Given the description of an element on the screen output the (x, y) to click on. 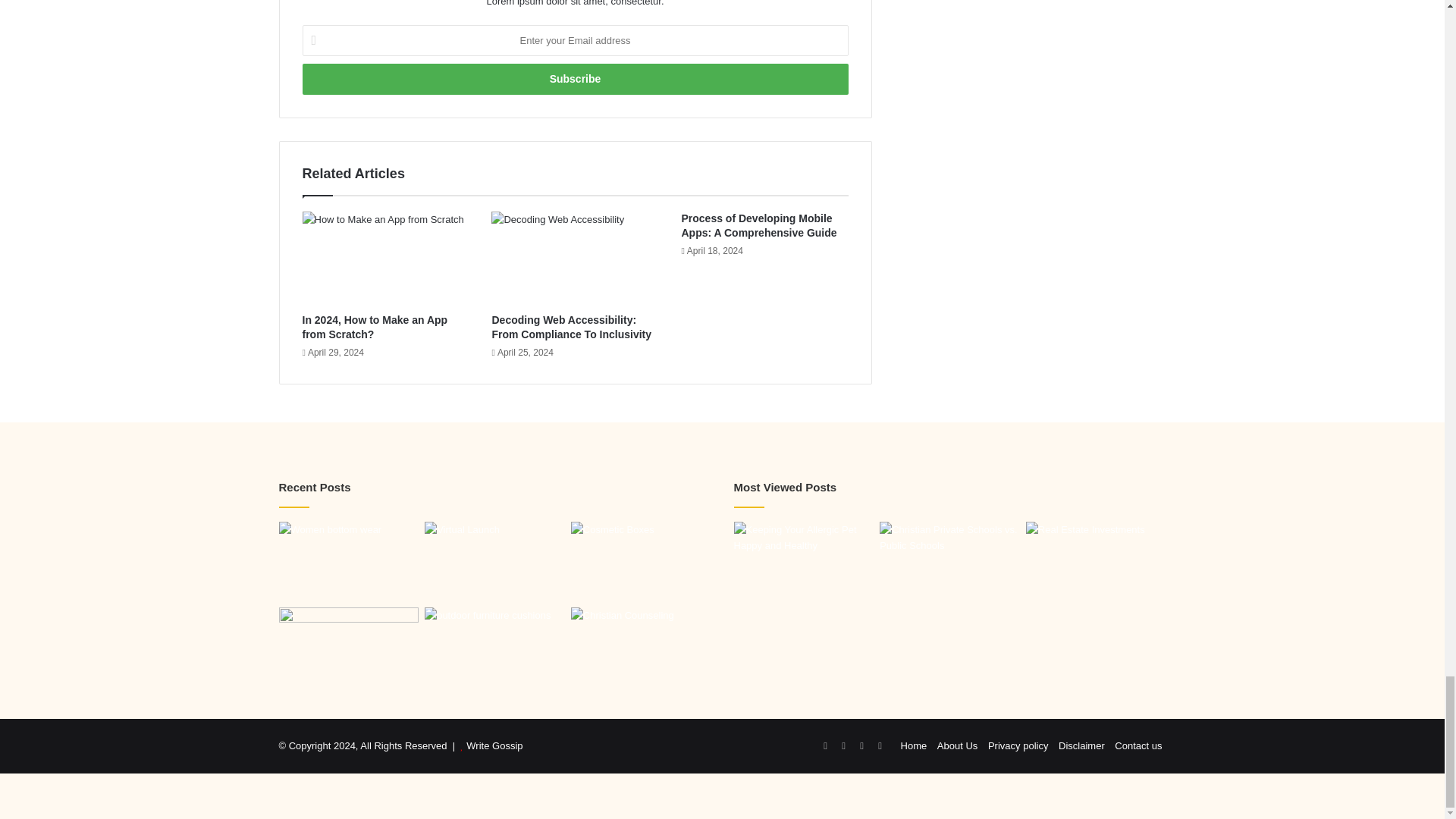
Subscribe (574, 79)
